Given the description of an element on the screen output the (x, y) to click on. 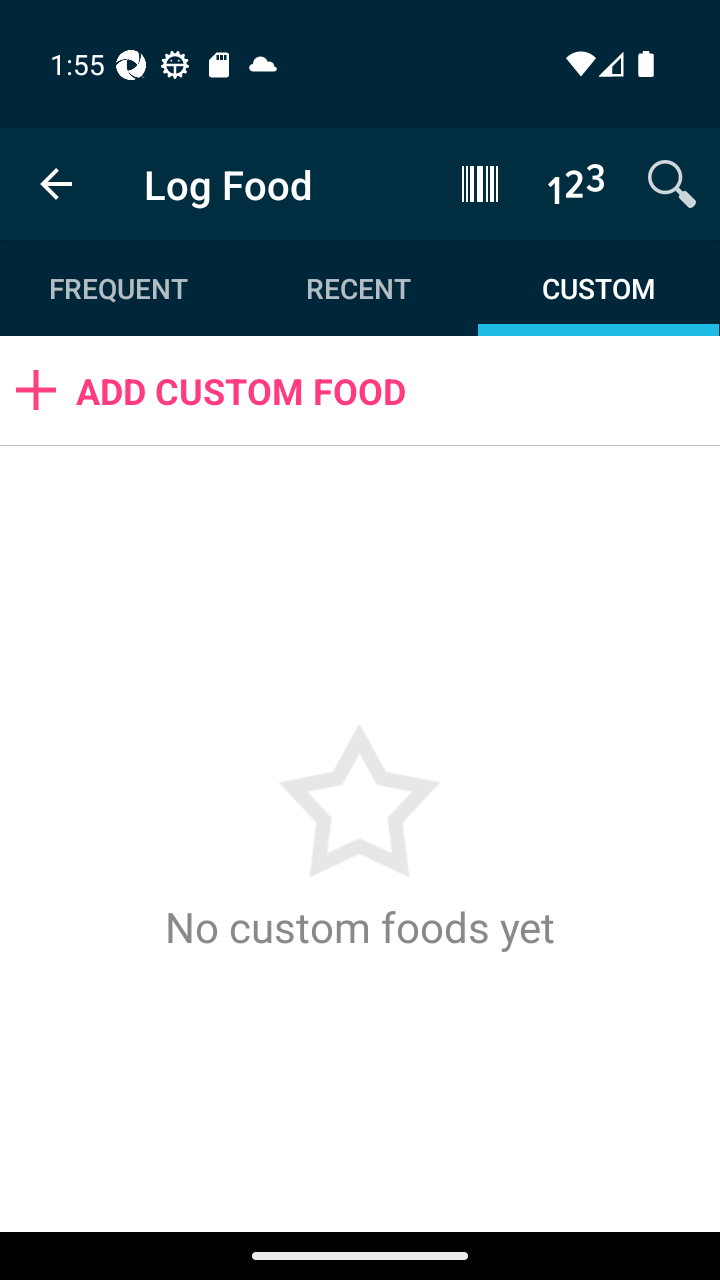
Navigate up (56, 184)
Barcode scanner (479, 183)
Add Quick Calories (575, 183)
Search database (672, 183)
FREQUENT (119, 287)
RECENT (358, 287)
CUSTOM (598, 287)
ADD CUSTOM FOOD (360, 390)
